Given the description of an element on the screen output the (x, y) to click on. 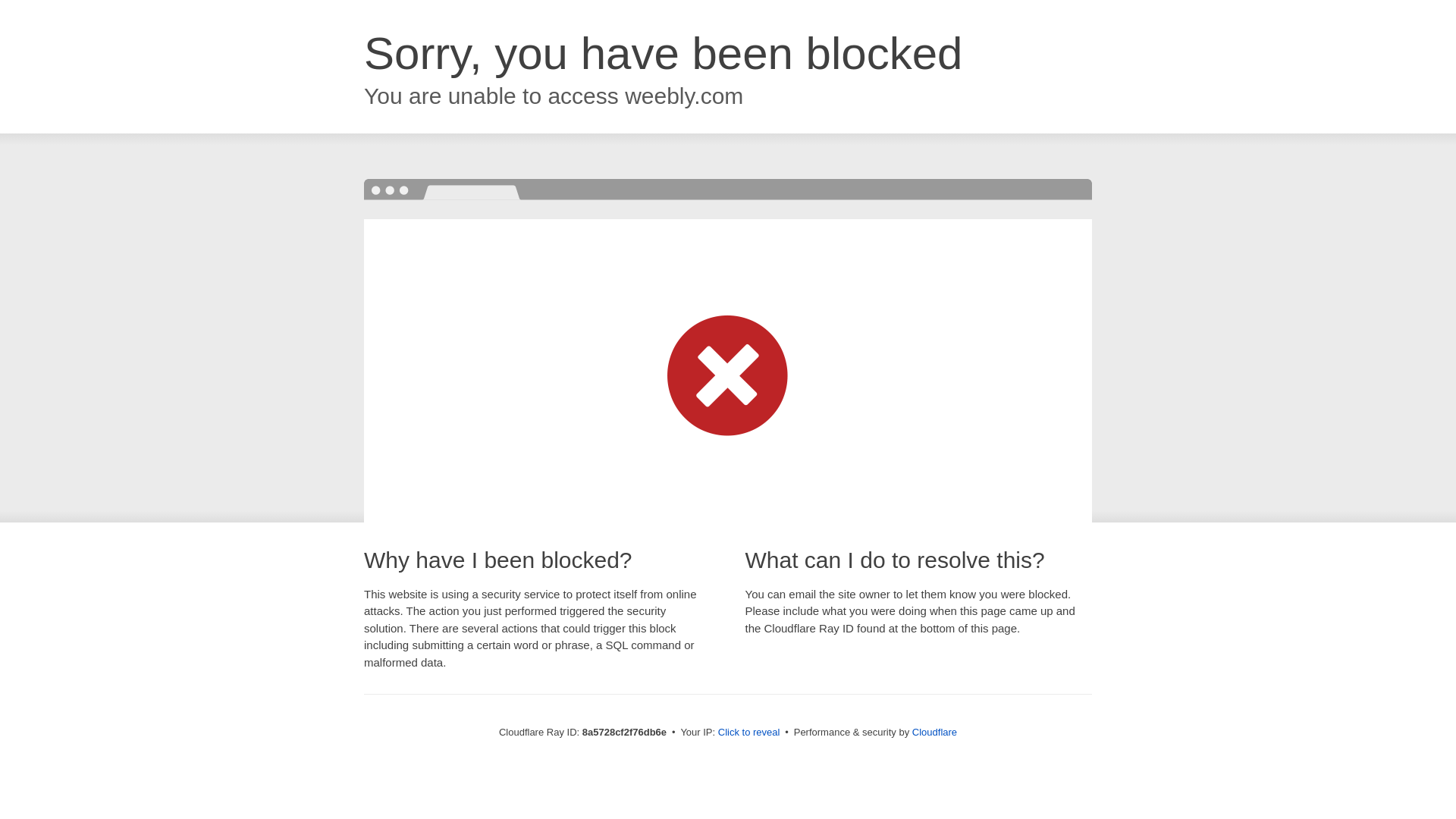
Cloudflare (934, 731)
Click to reveal (748, 732)
